Given the description of an element on the screen output the (x, y) to click on. 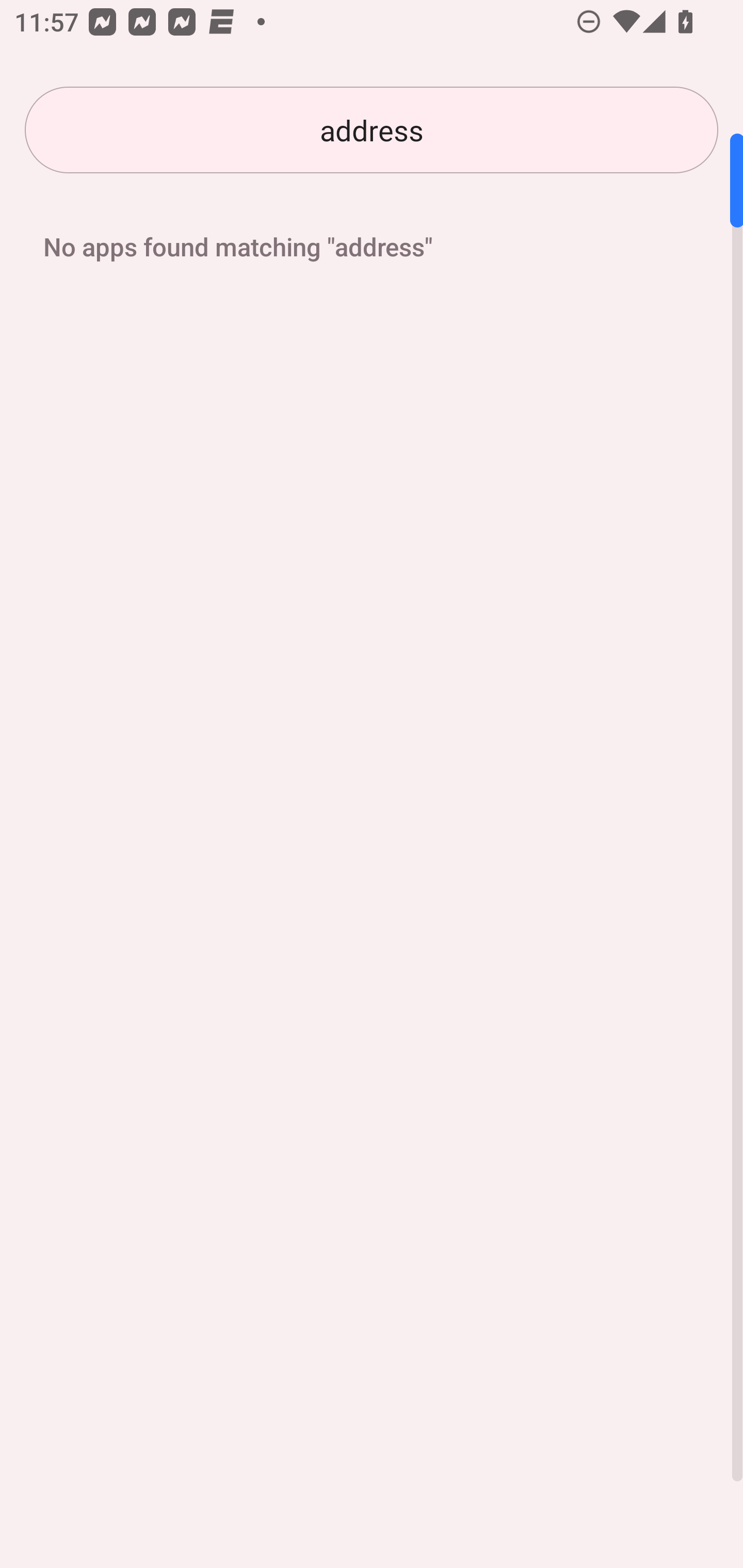
address (371, 130)
